Given the description of an element on the screen output the (x, y) to click on. 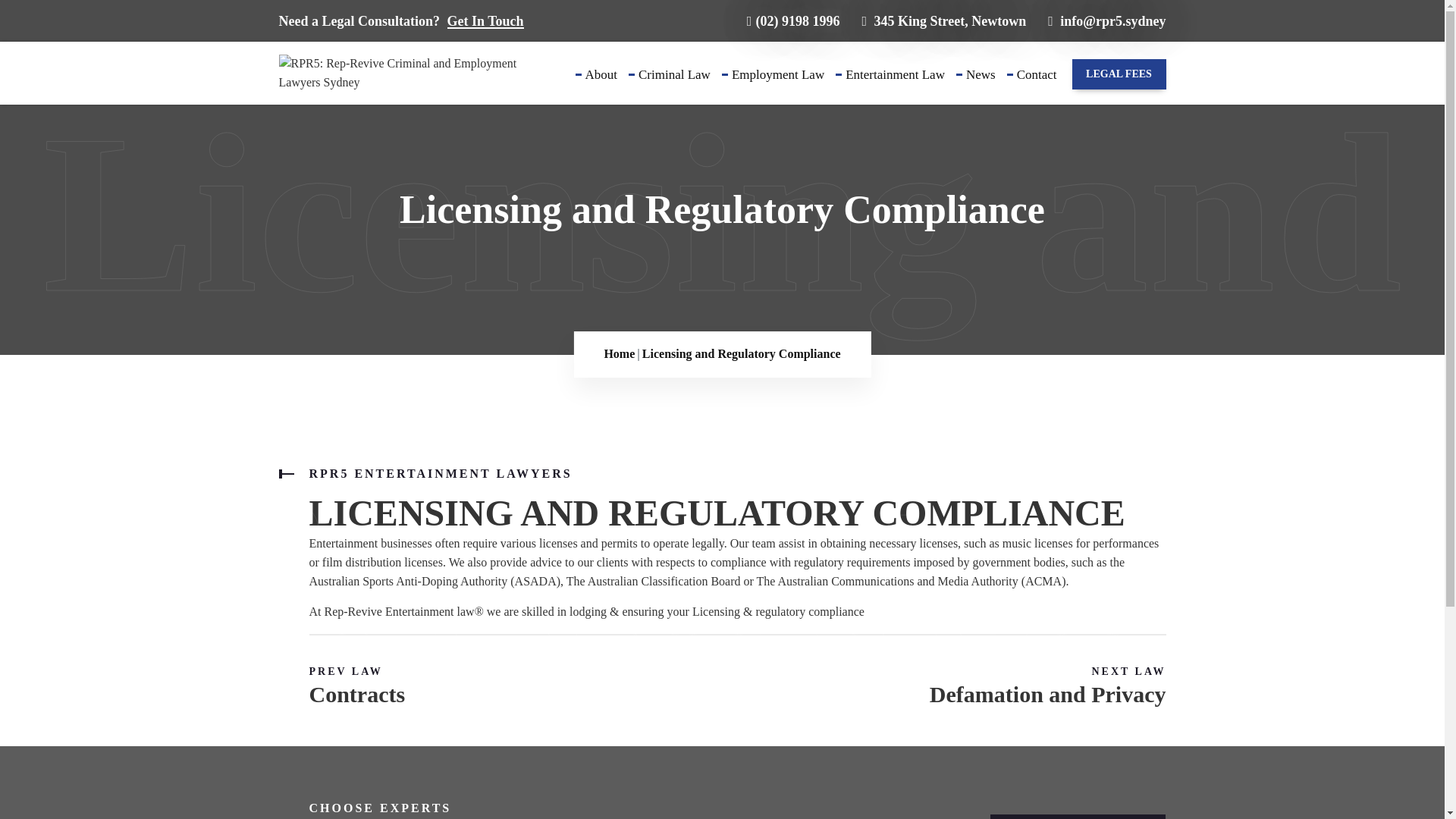
345 King Street, Newtown (943, 20)
Get In Touch (485, 20)
About (601, 85)
Criminal Law (674, 85)
